Given the description of an element on the screen output the (x, y) to click on. 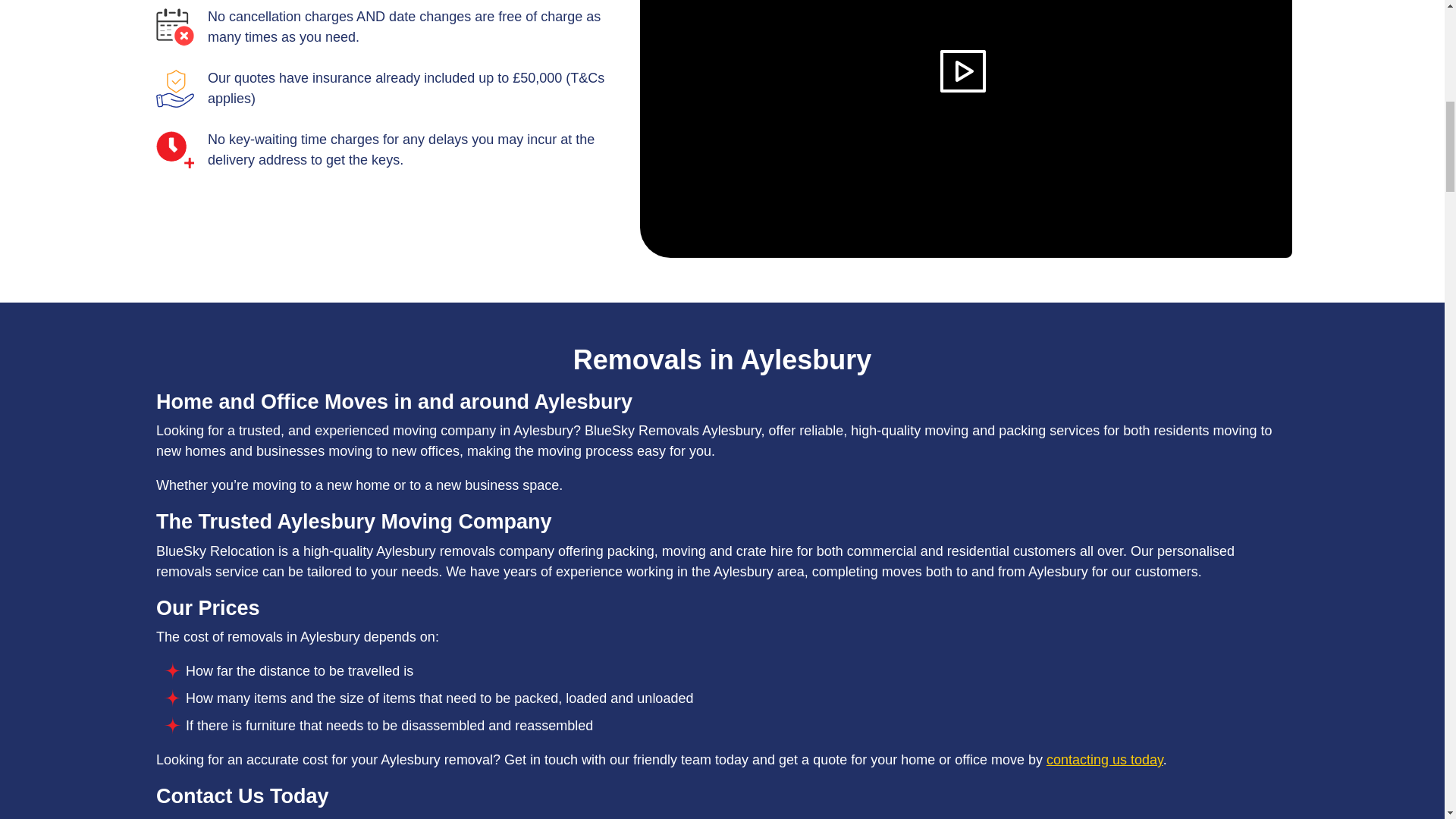
contacting us today (1104, 759)
